Given the description of an element on the screen output the (x, y) to click on. 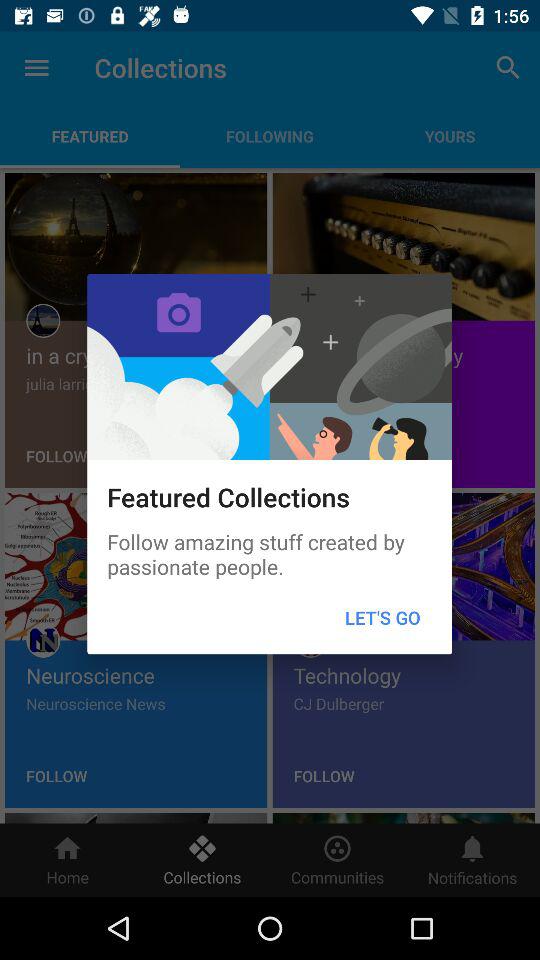
turn on the let's go on the right (382, 617)
